Given the description of an element on the screen output the (x, y) to click on. 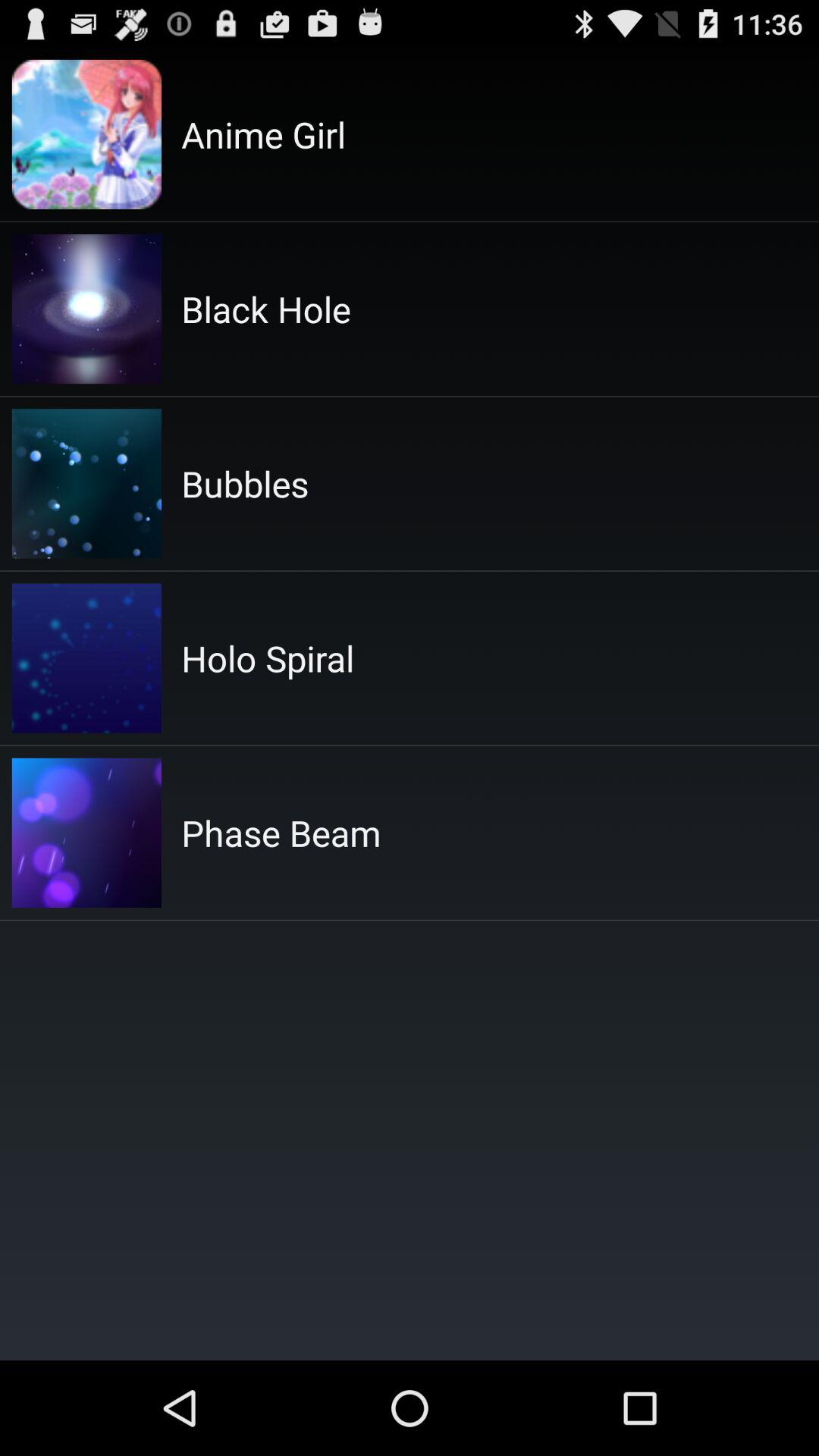
launch app below holo spiral item (281, 832)
